Given the description of an element on the screen output the (x, y) to click on. 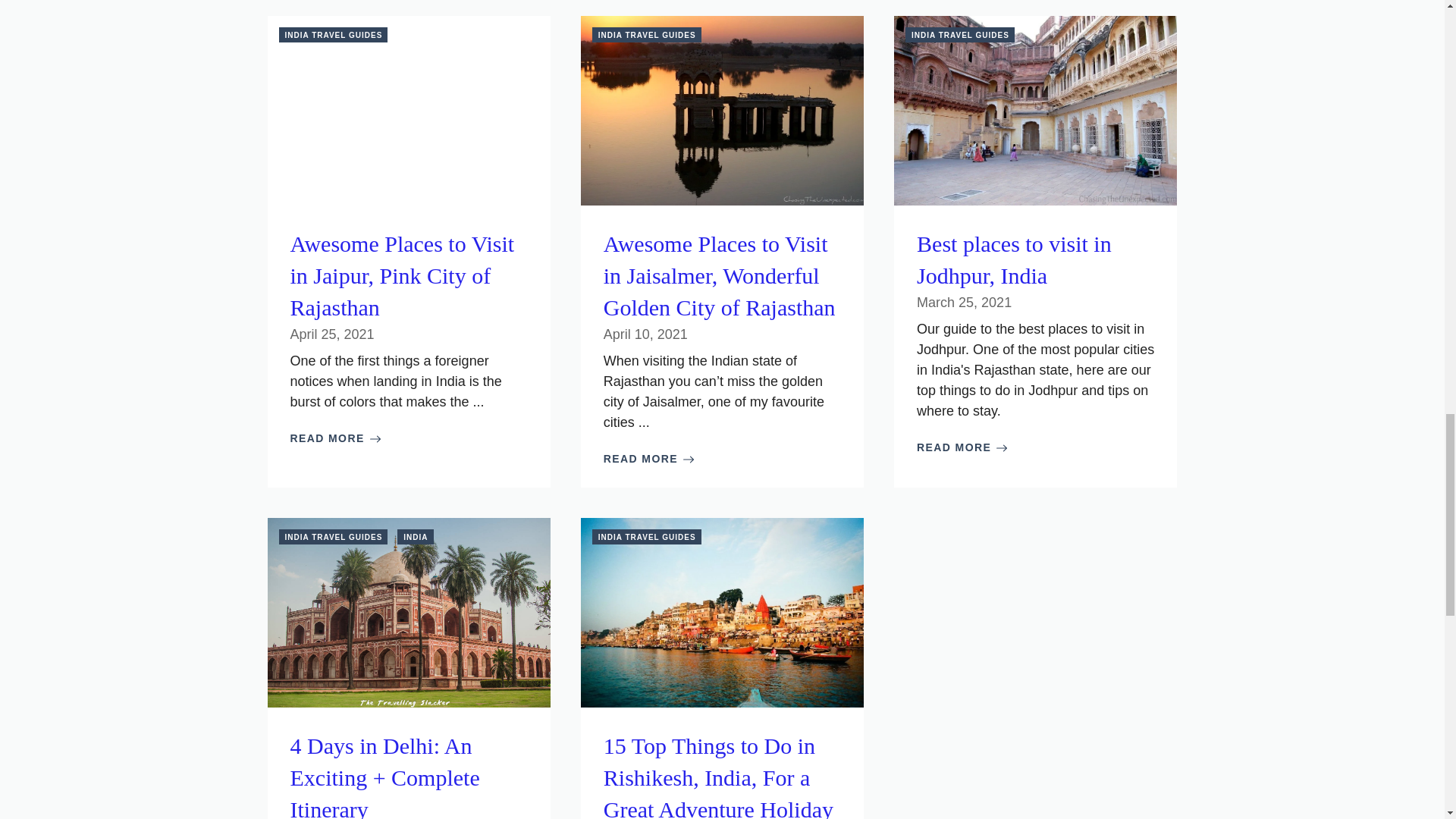
INDIA TRAVEL GUIDES (333, 34)
READ MORE (334, 438)
Awesome Places to Visit in Jaipur, Pink City of Rajasthan (401, 275)
